Given the description of an element on the screen output the (x, y) to click on. 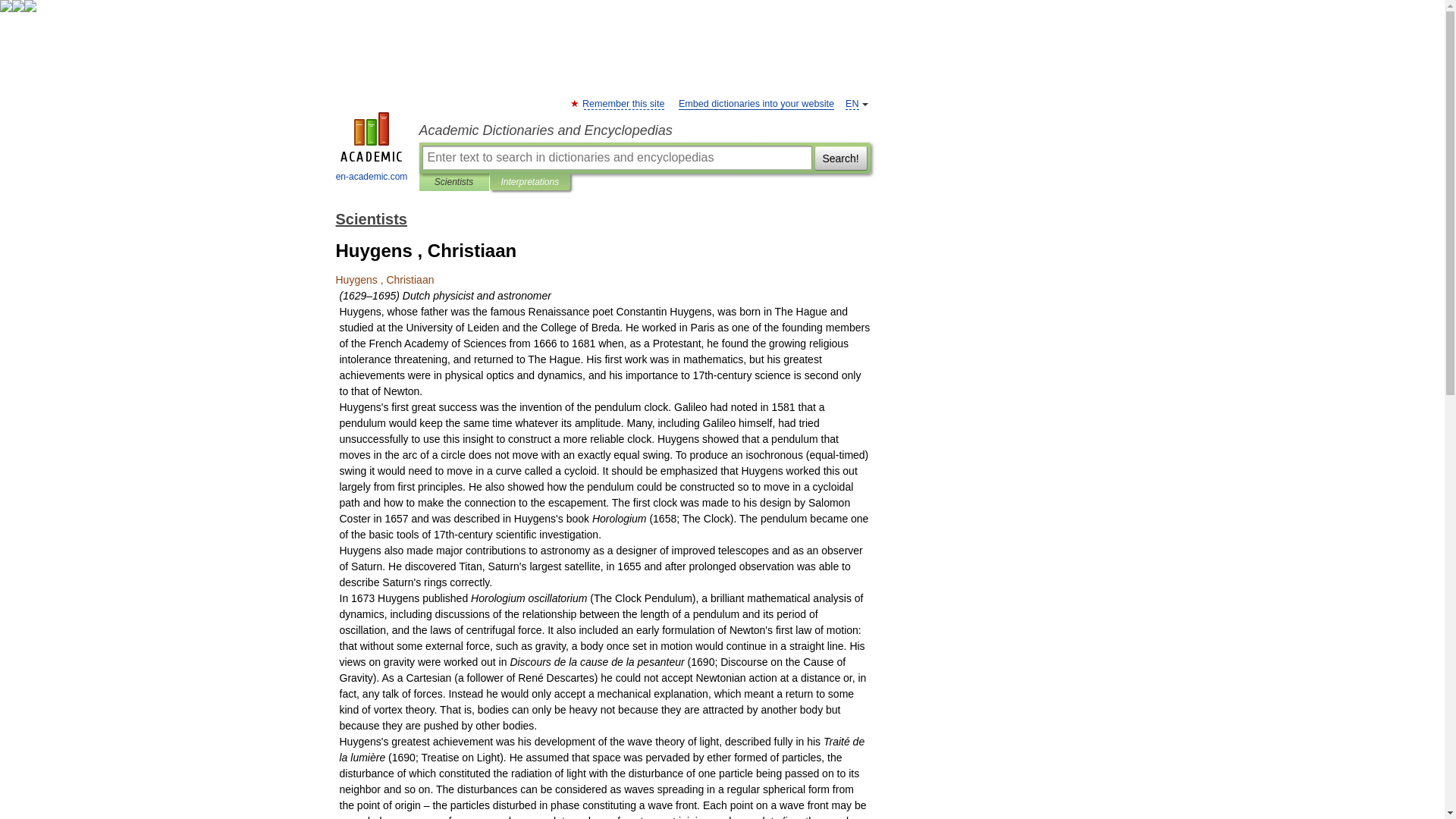
Scientists (370, 218)
Academic Dictionaries and Encyclopedias (644, 130)
Enter text to search in dictionaries and encyclopedias (616, 157)
Remember this site (623, 103)
Search! (840, 157)
EN (852, 103)
Interpretations (529, 181)
Scientists (453, 181)
en-academic.com (371, 148)
Embed dictionaries into your website (756, 103)
